Given the description of an element on the screen output the (x, y) to click on. 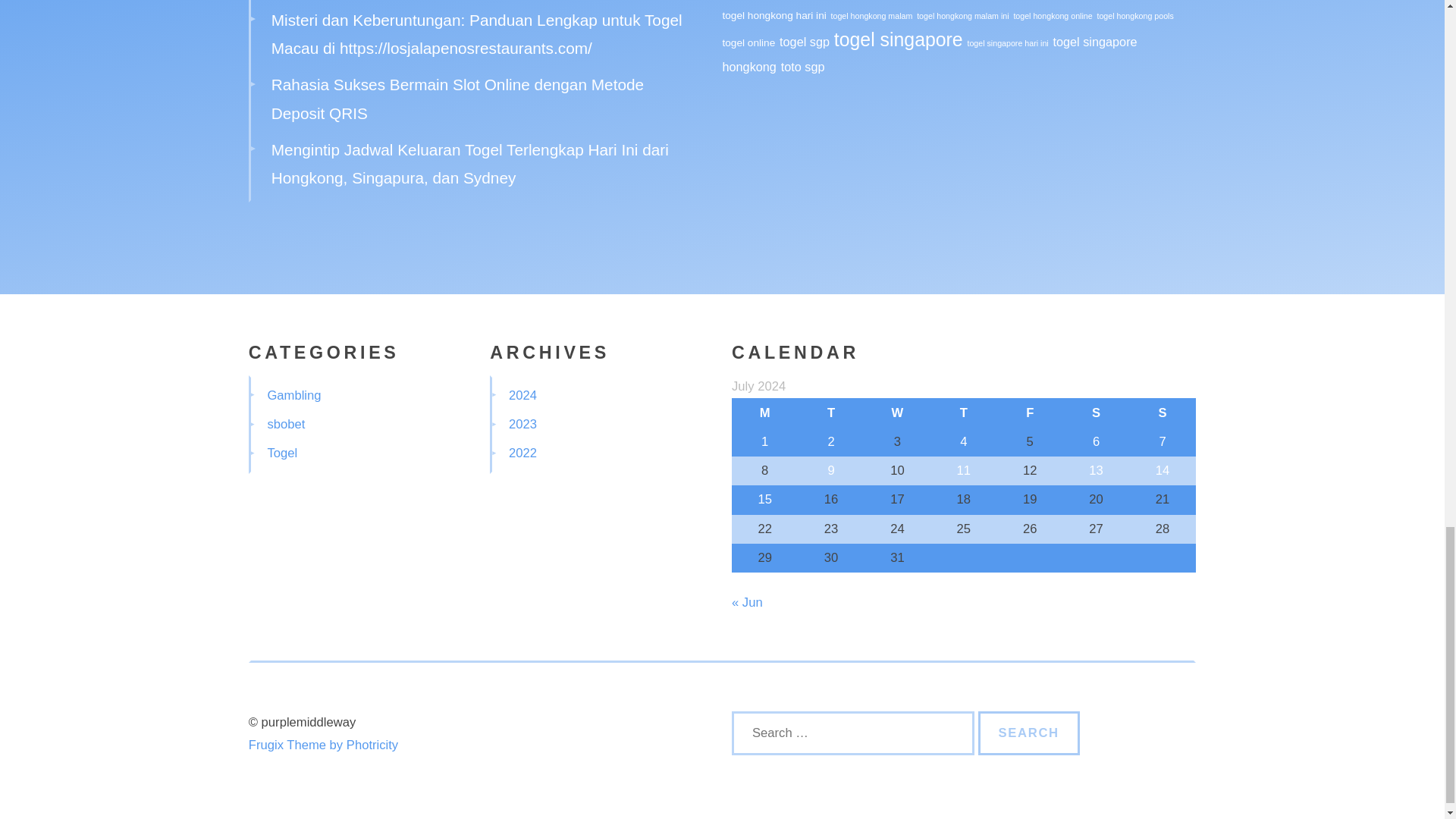
Friday (1029, 412)
Search (1029, 733)
Tuesday (830, 412)
Wednesday (897, 412)
Search (1029, 733)
Saturday (1095, 412)
Sunday (1162, 412)
Monday (764, 412)
Thursday (962, 412)
